Given the description of an element on the screen output the (x, y) to click on. 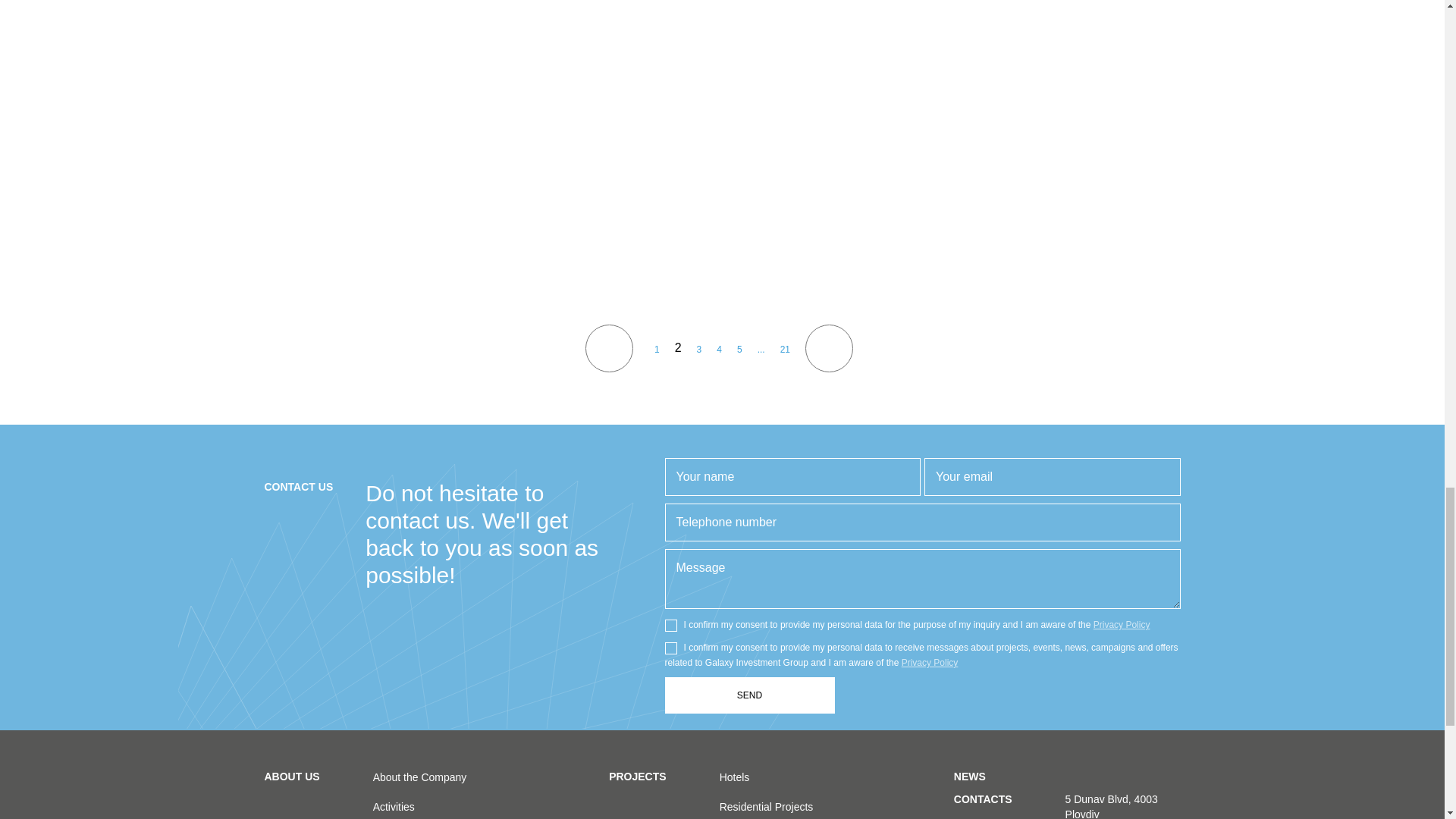
About the Company (419, 776)
Hotels (734, 776)
SEND (748, 695)
21 (785, 348)
PROJECTS (636, 794)
About the Company (419, 776)
ABOUT US (290, 794)
Privacy Policy (929, 662)
Privacy Policy (1121, 624)
Residential Projects (766, 806)
Activities (393, 806)
21 (785, 348)
Hotels (734, 776)
Activities (393, 806)
